Given the description of an element on the screen output the (x, y) to click on. 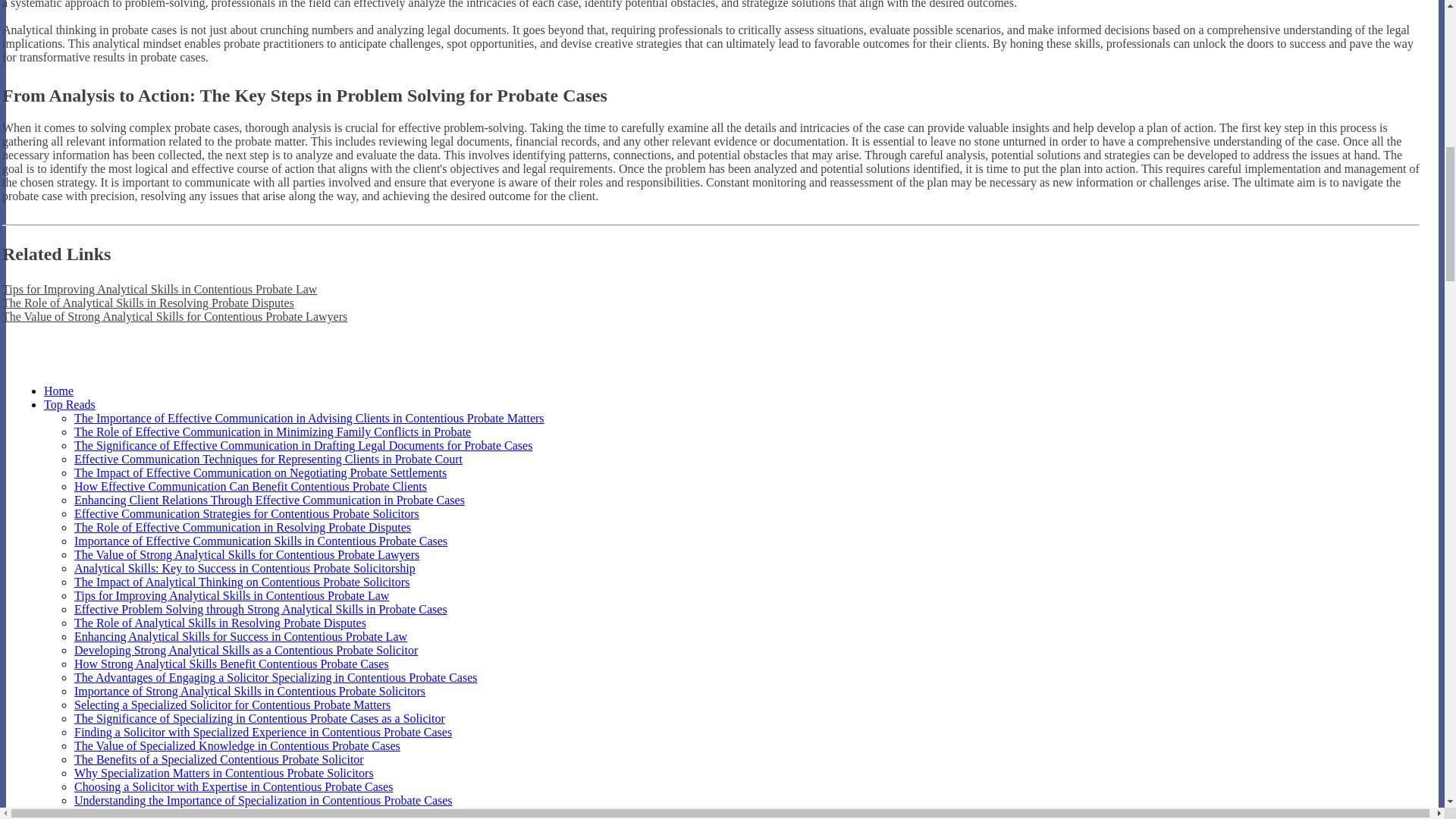
Top Reads (69, 404)
The Role of Analytical Skills in Resolving Probate Disputes (220, 622)
